Given the description of an element on the screen output the (x, y) to click on. 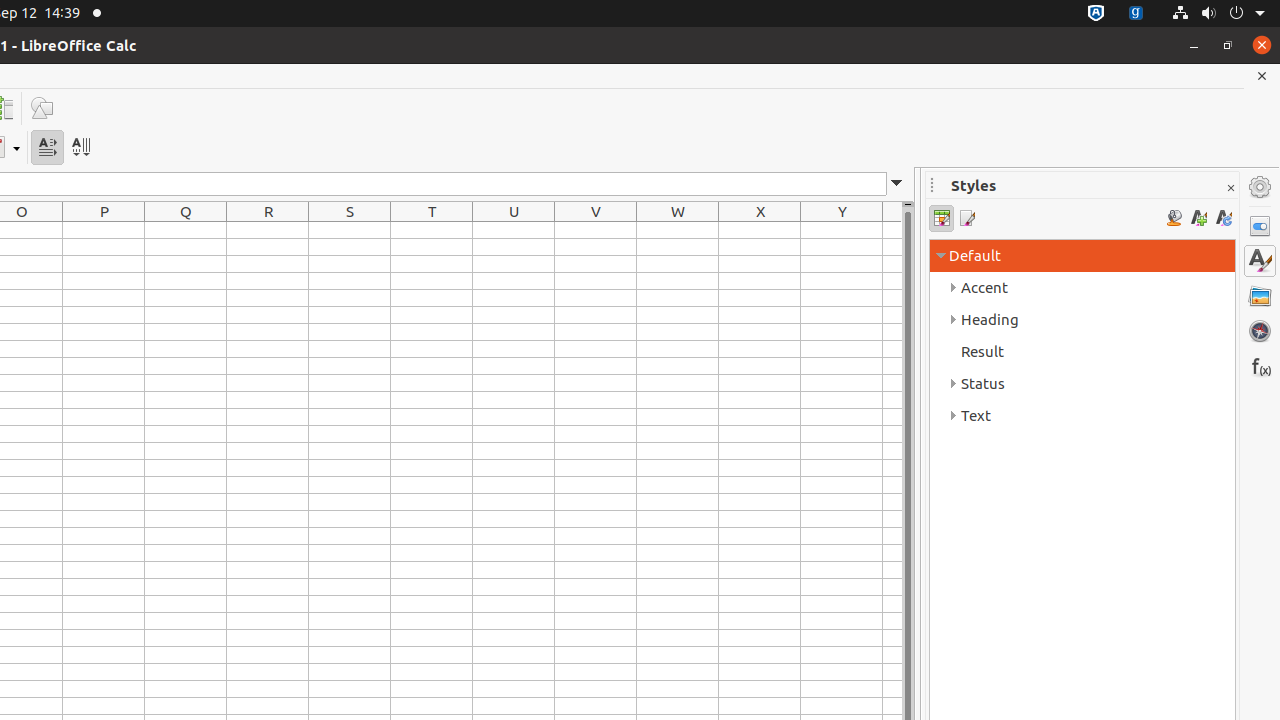
System Element type: menu (1218, 13)
Y1 Element type: table-cell (842, 230)
R1 Element type: table-cell (268, 230)
T1 Element type: table-cell (432, 230)
New Style from Selection Element type: push-button (1198, 218)
